Given the description of an element on the screen output the (x, y) to click on. 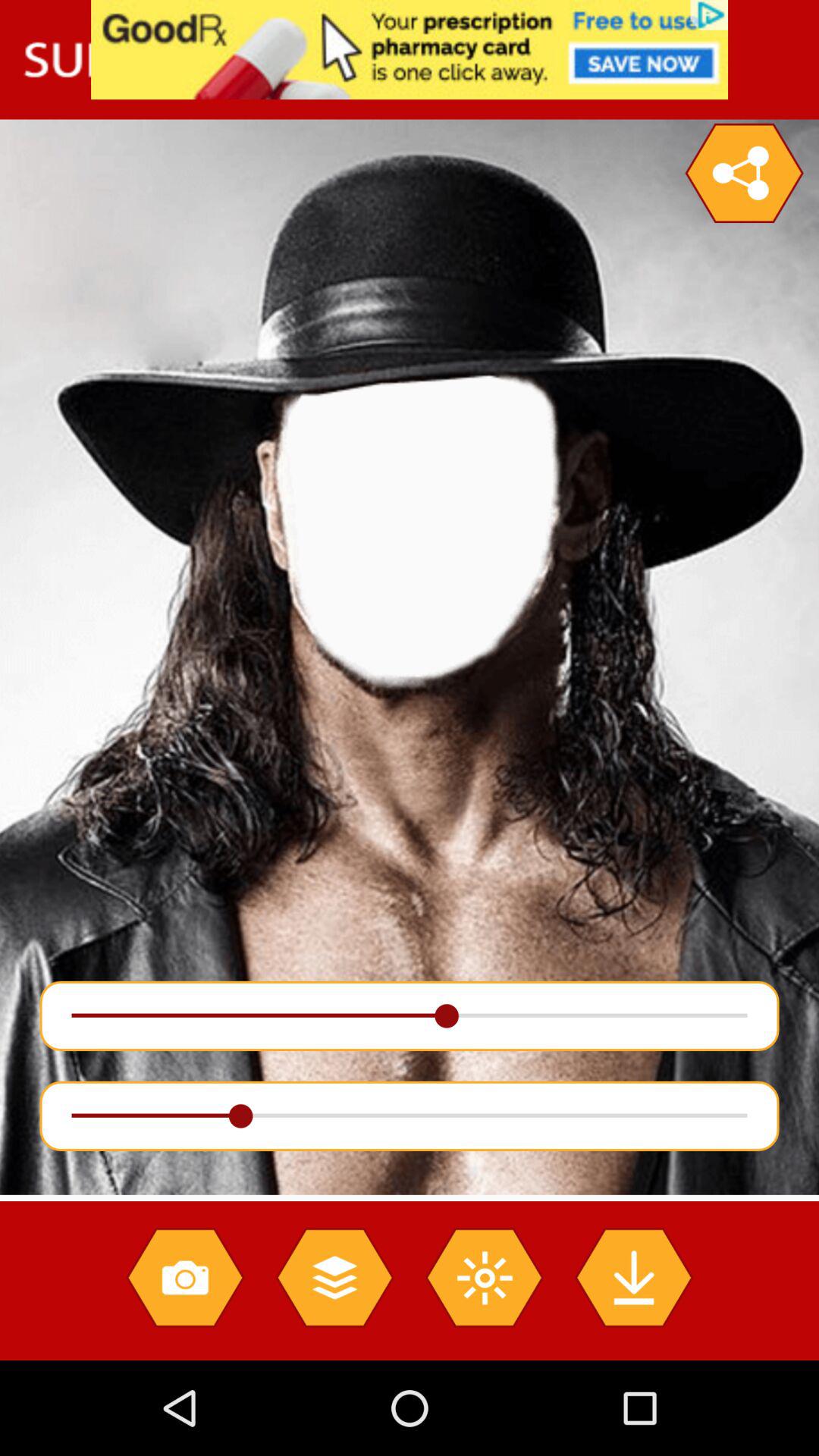
bright option (484, 1277)
